Given the description of an element on the screen output the (x, y) to click on. 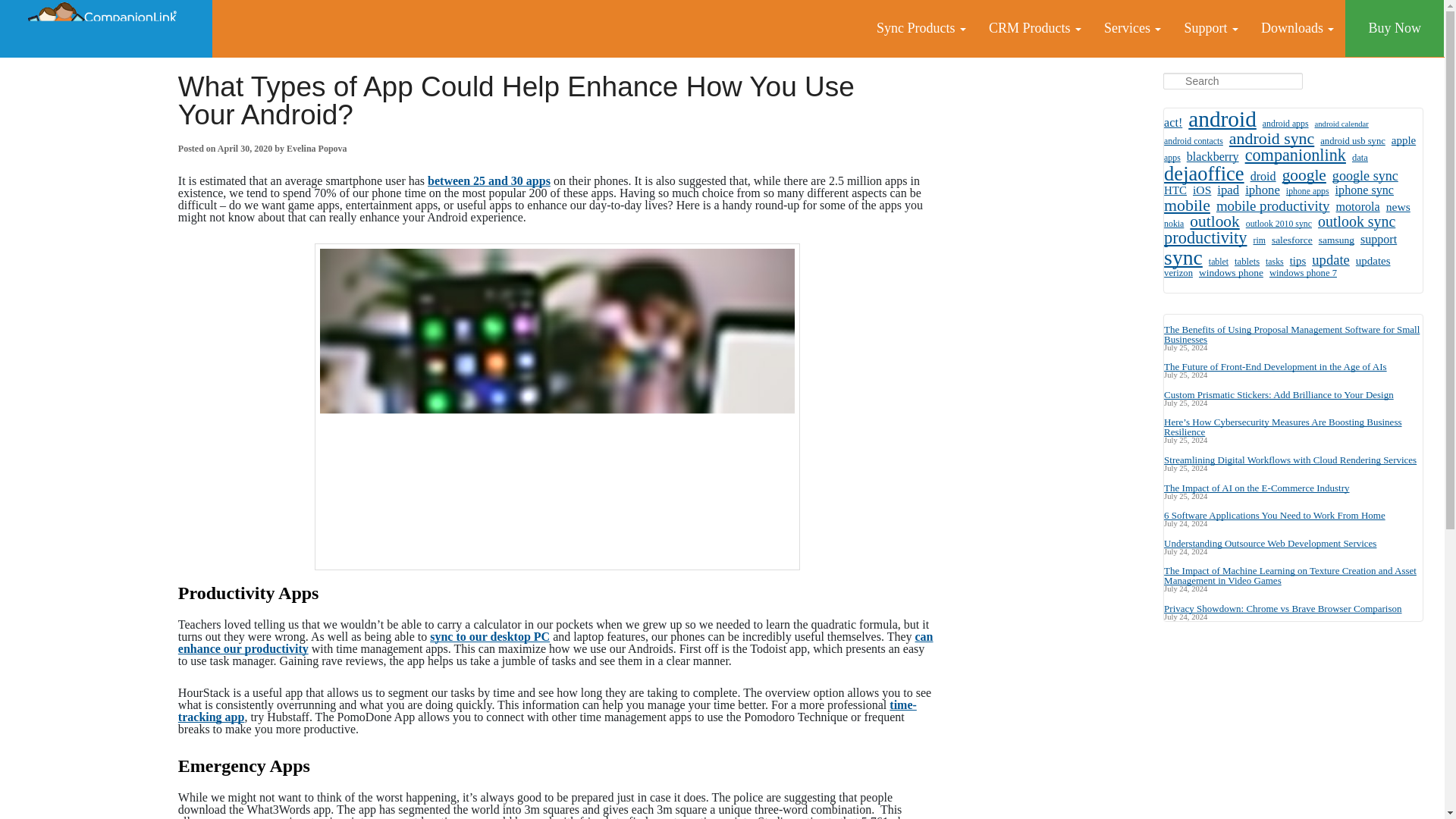
Sync Products (920, 28)
Downloads (1297, 28)
Support (1210, 28)
CompanionLink Home (106, 28)
Services (1132, 28)
CRM Products (1034, 28)
